Given the description of an element on the screen output the (x, y) to click on. 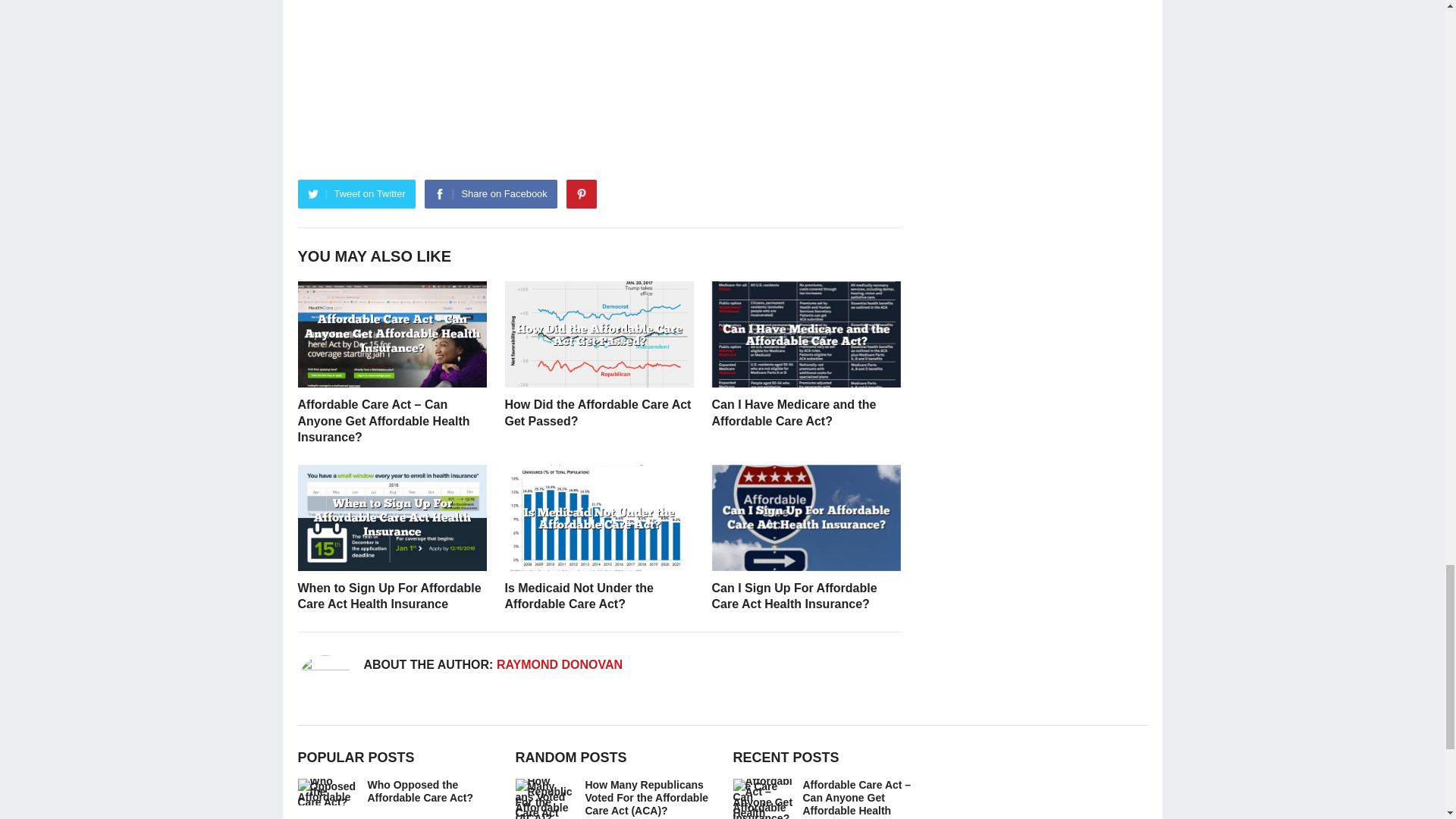
Tweet on Twitter (355, 193)
